Given the description of an element on the screen output the (x, y) to click on. 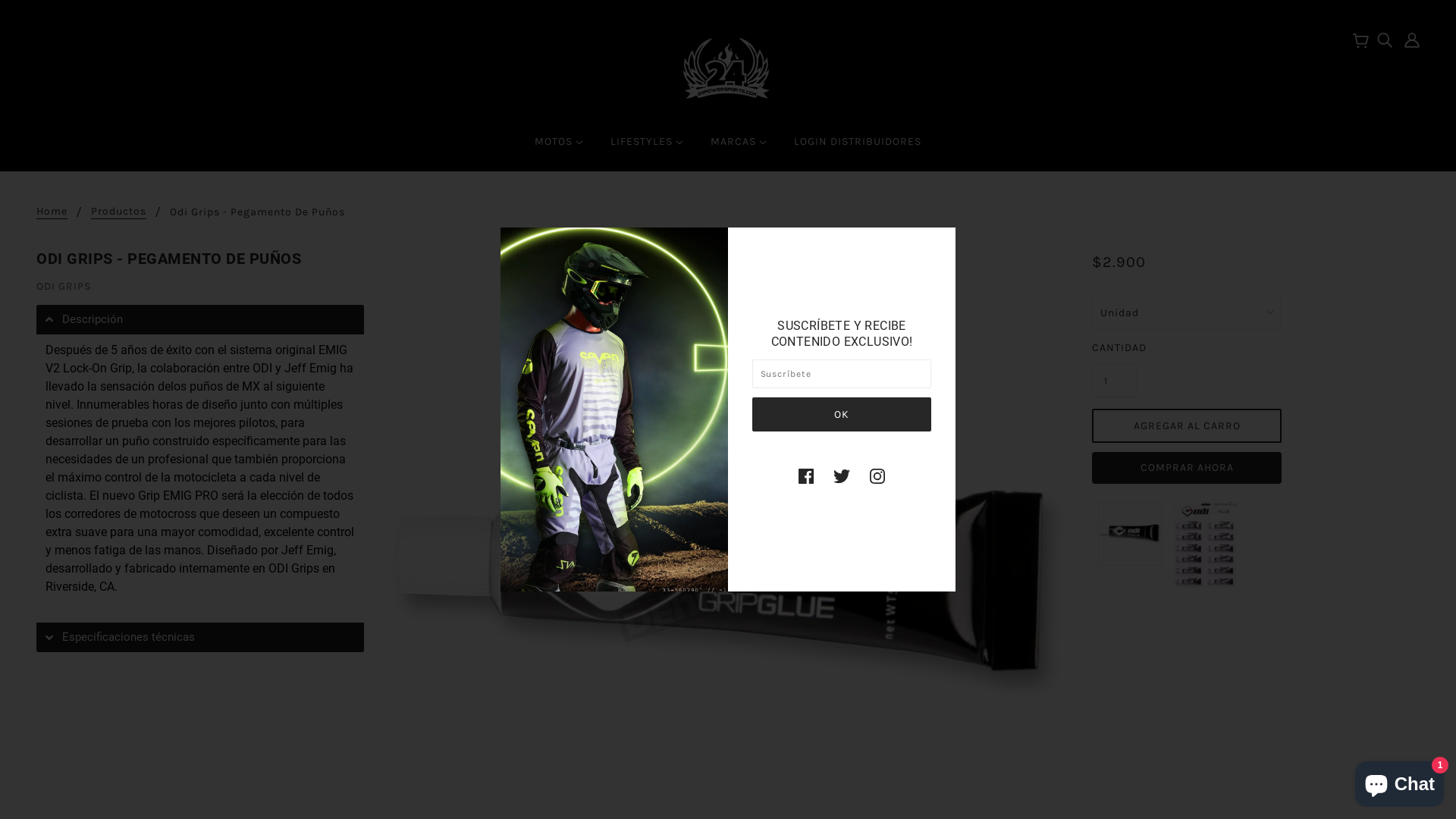
AGREGAR AL CARRO Element type: text (1186, 425)
ODI GRIPS Element type: text (63, 285)
Chat de la tienda online Shopify Element type: hover (1399, 780)
Ok Element type: text (841, 414)
Home Element type: text (51, 212)
24Powersports Element type: hover (727, 66)
COMPRAR AHORA Element type: text (1186, 467)
MOTOS Element type: text (558, 147)
LIFESTYLES Element type: text (646, 147)
Productos Element type: text (118, 212)
LOGIN DISTRIBUIDORES Element type: text (857, 147)
MARCAS Element type: text (738, 147)
